Given the description of an element on the screen output the (x, y) to click on. 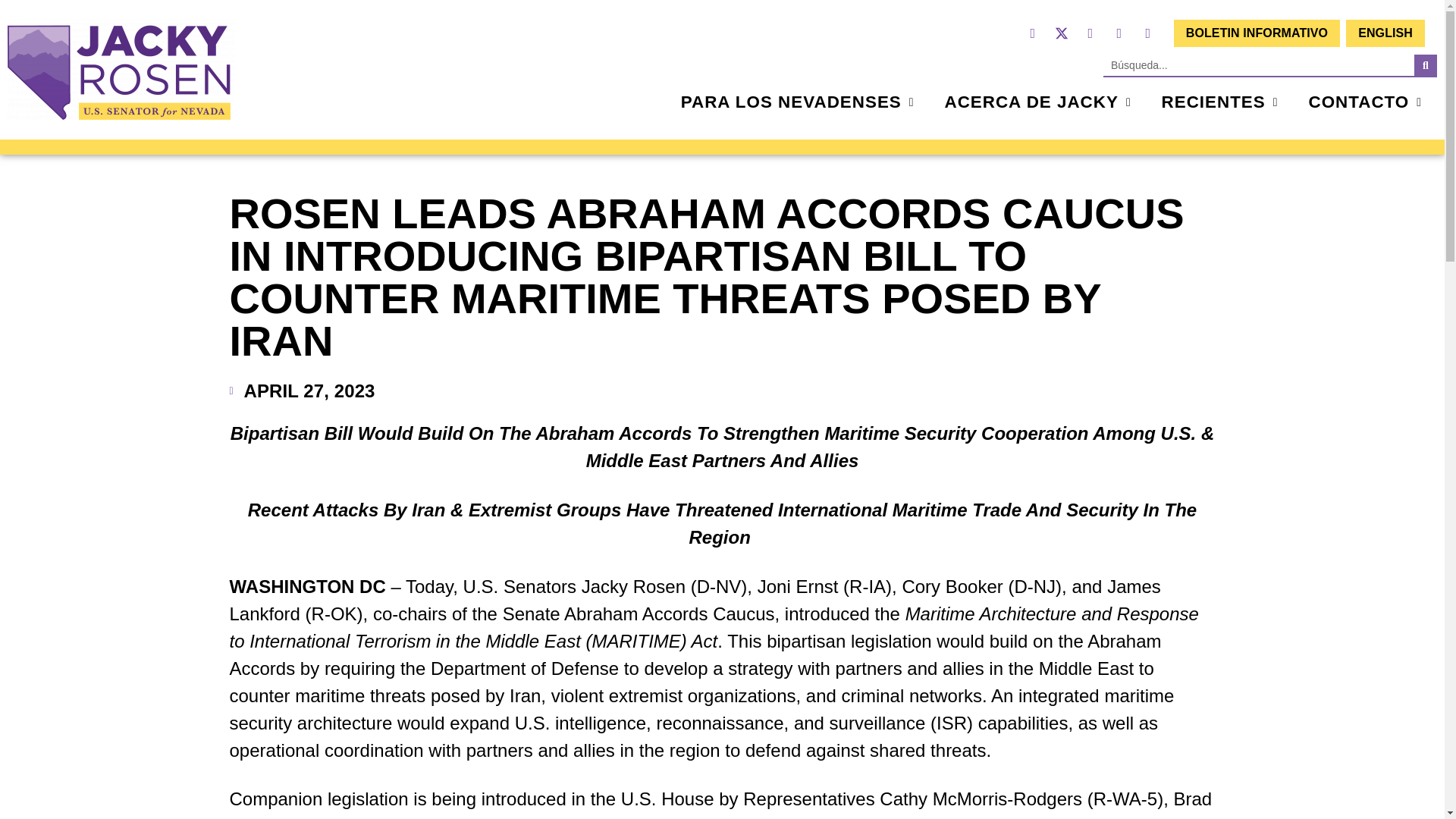
RECIENTES (1220, 102)
PARA LOS NEVADENSES (797, 102)
ACERCA DE JACKY (1036, 102)
